Given the description of an element on the screen output the (x, y) to click on. 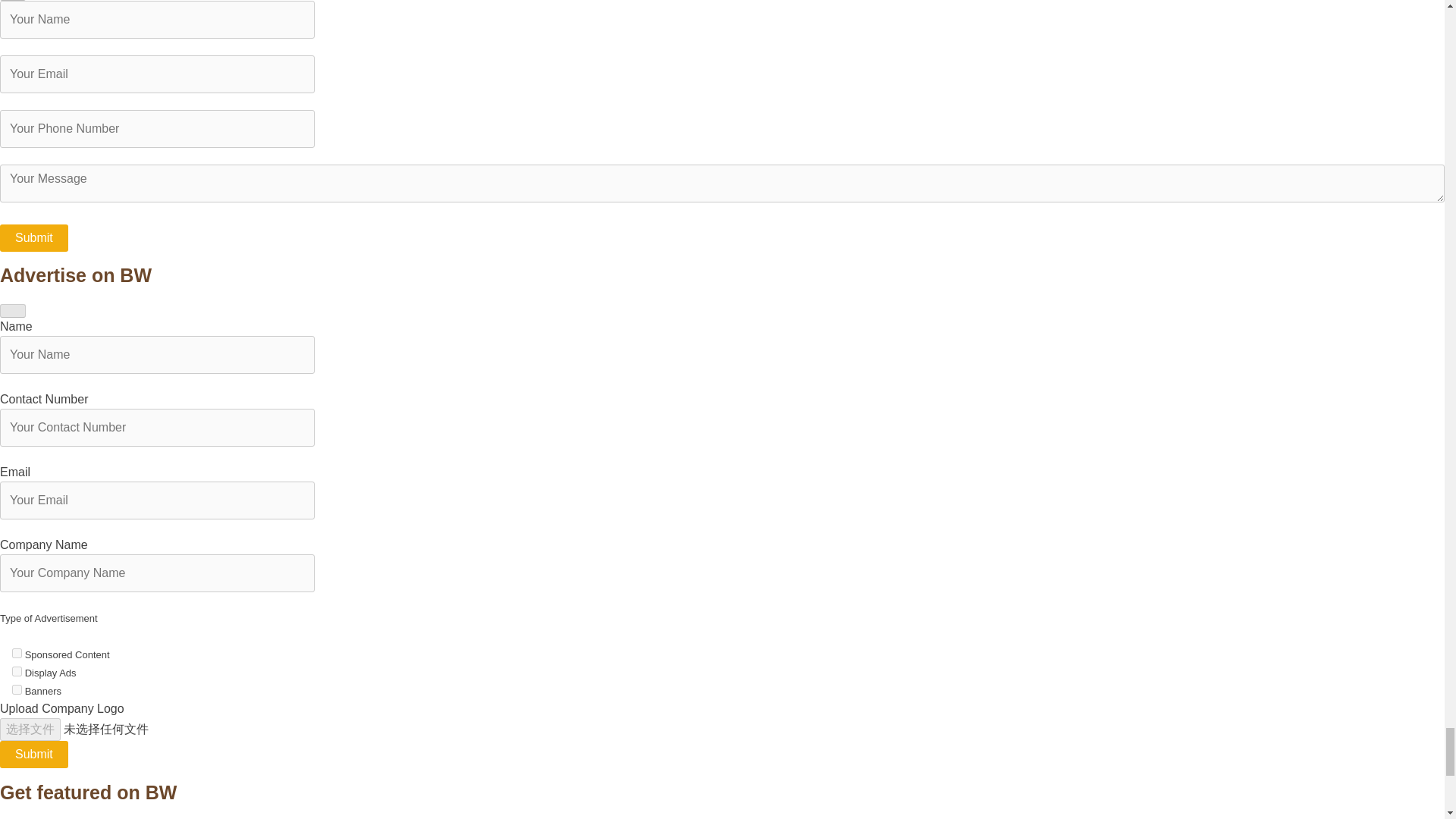
Display Ads (16, 671)
Submit (34, 237)
Sponsored Content (16, 653)
Banners (16, 689)
Submit (34, 754)
